Given the description of an element on the screen output the (x, y) to click on. 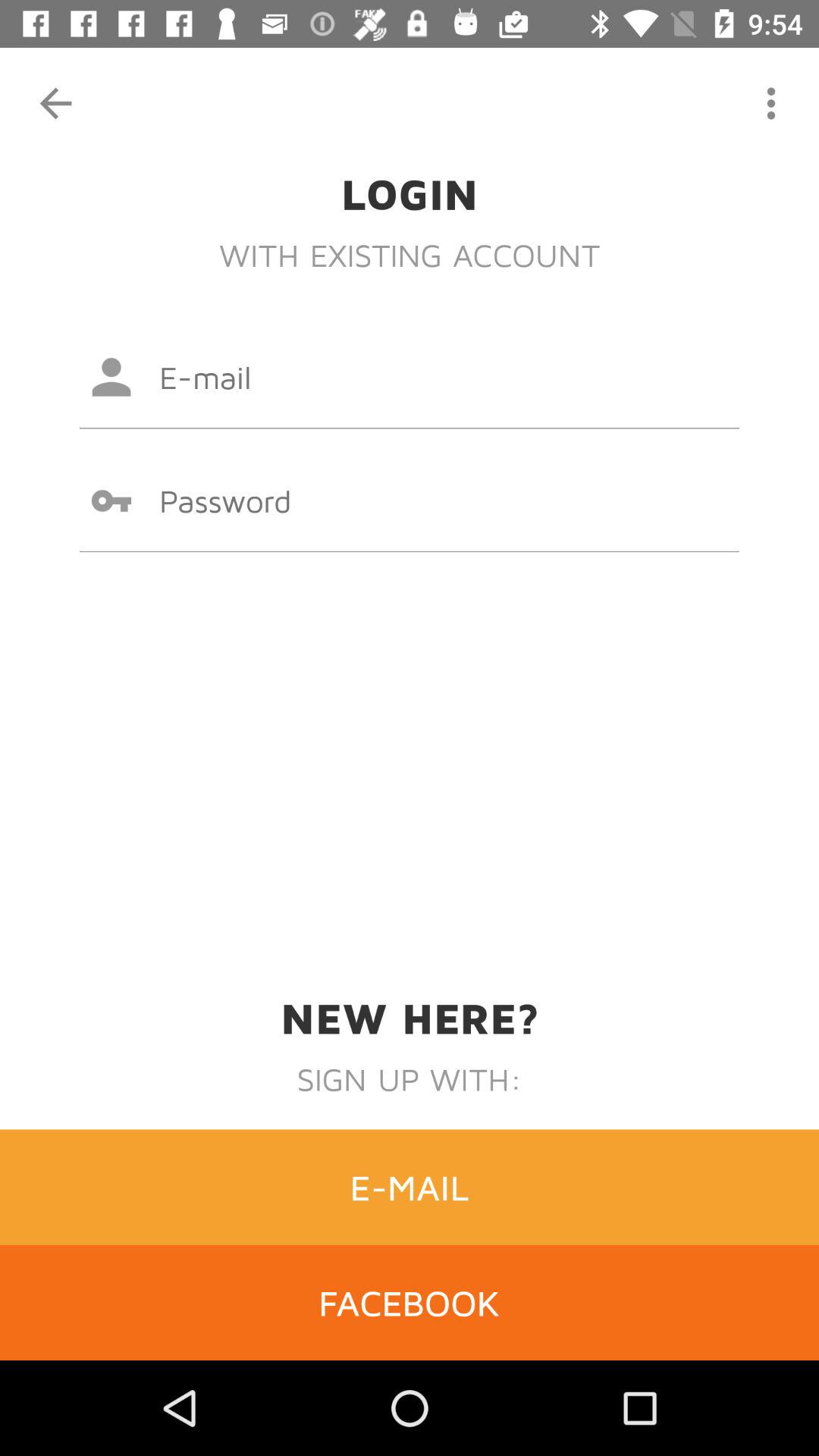
press the facebook (409, 1302)
